Given the description of an element on the screen output the (x, y) to click on. 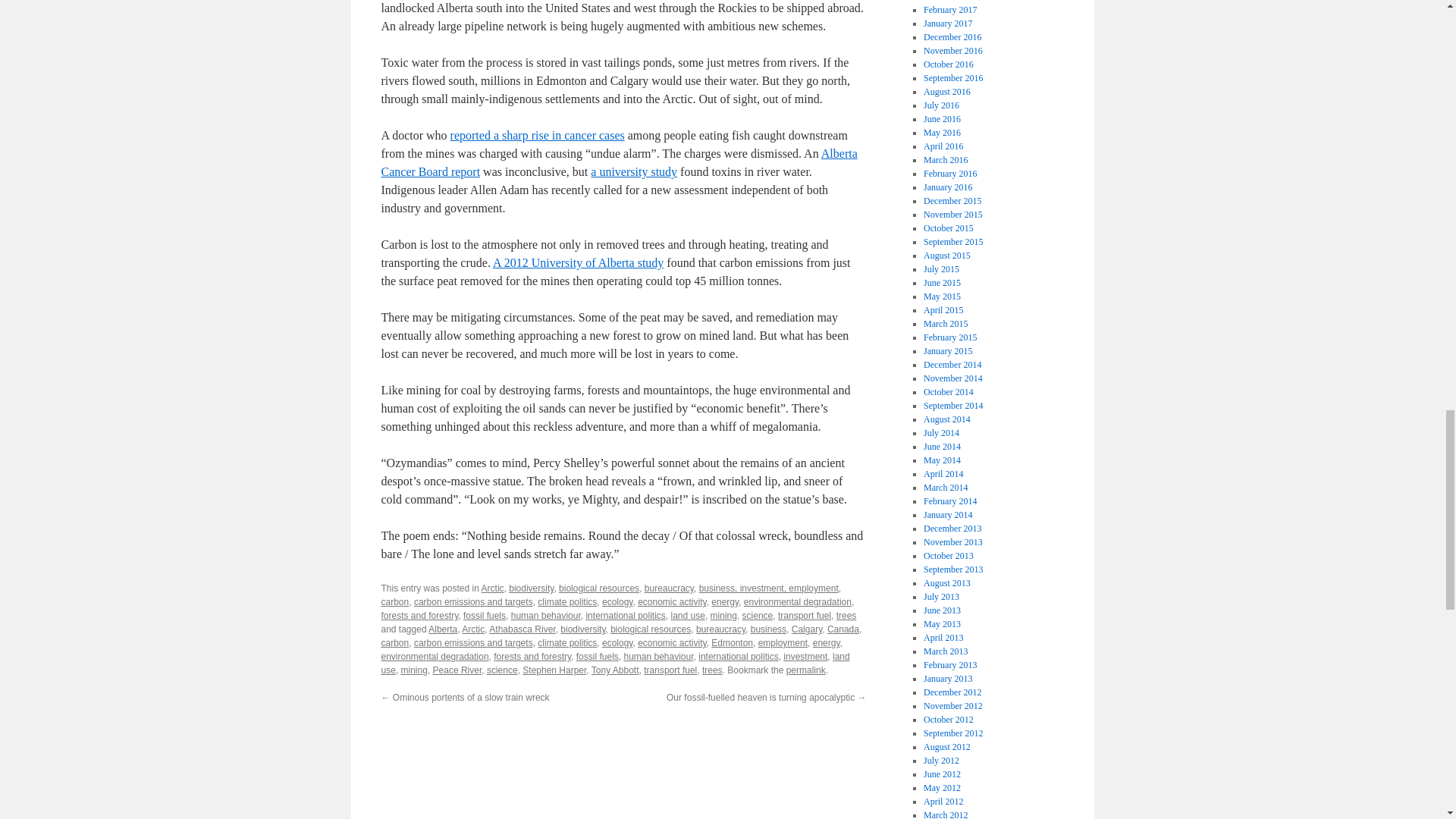
international politics (625, 615)
Permalink to The madness of mining for oil in Alberta (805, 670)
bureaucracy (669, 588)
reported a sharp rise in cancer cases (536, 134)
economic activity (671, 602)
Arctic (492, 588)
a university study (634, 171)
science (757, 615)
carbon (394, 602)
Alberta (442, 629)
ecology (616, 602)
climate politics (566, 602)
mining (723, 615)
human behaviour (545, 615)
Alberta Cancer Board report (618, 162)
